Given the description of an element on the screen output the (x, y) to click on. 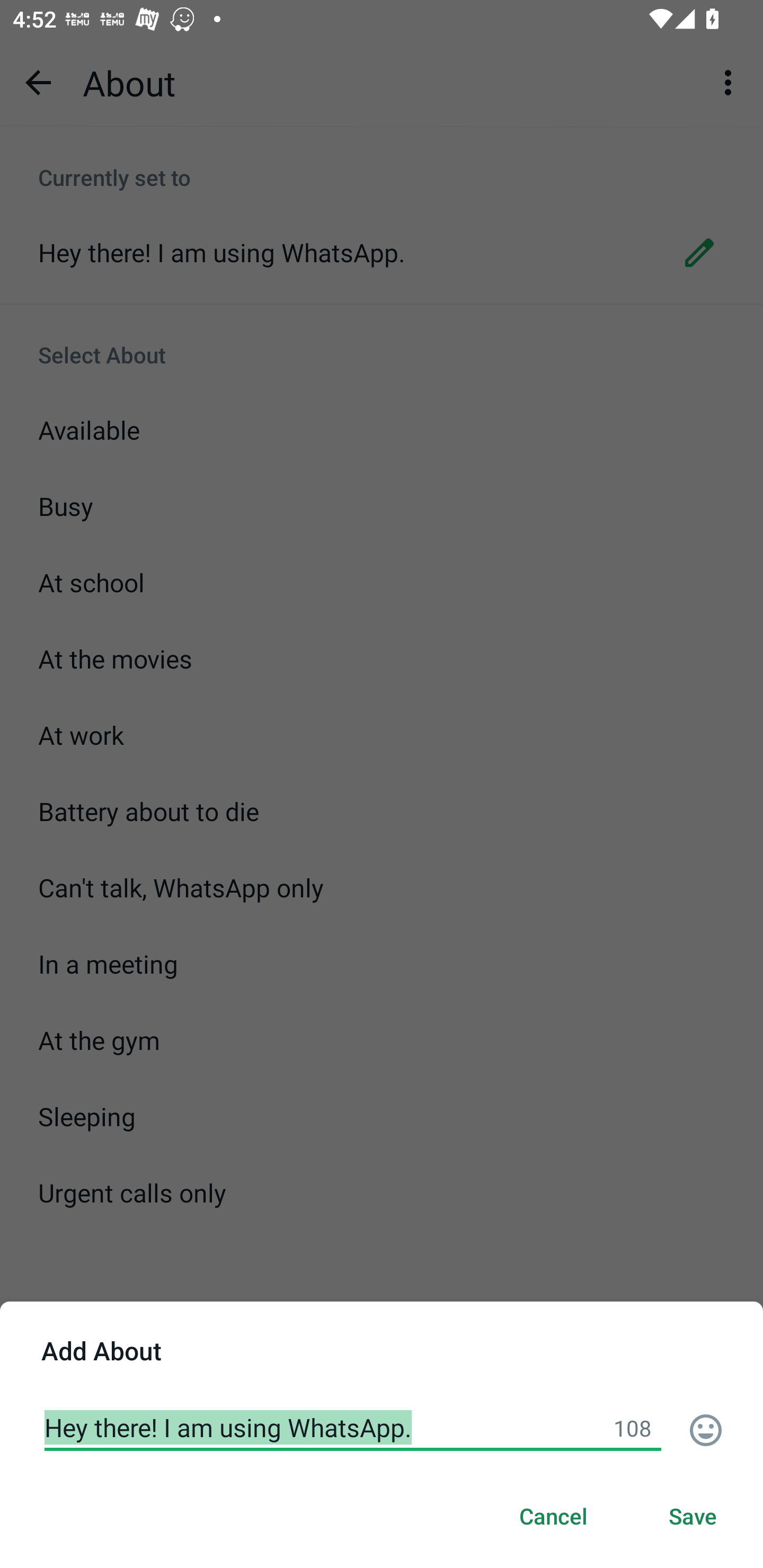
Hey there! I am using WhatsApp. (352, 1427)
Emoji (705, 1429)
CANCEL (552, 1516)
SAVE (693, 1516)
